Given the description of an element on the screen output the (x, y) to click on. 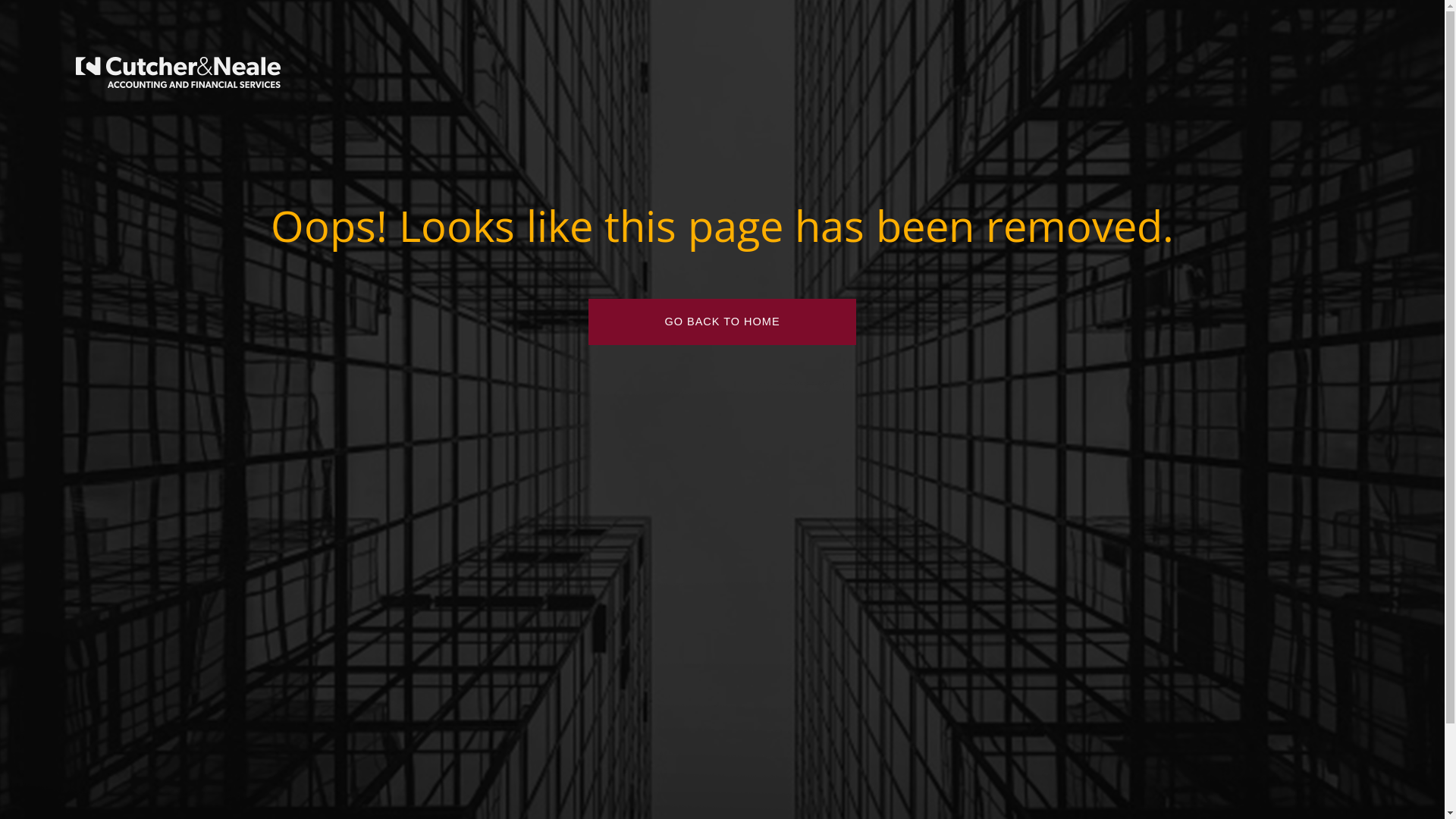
white-logo.png Element type: hover (177, 71)
GO BACK TO HOME Element type: text (721, 321)
